Given the description of an element on the screen output the (x, y) to click on. 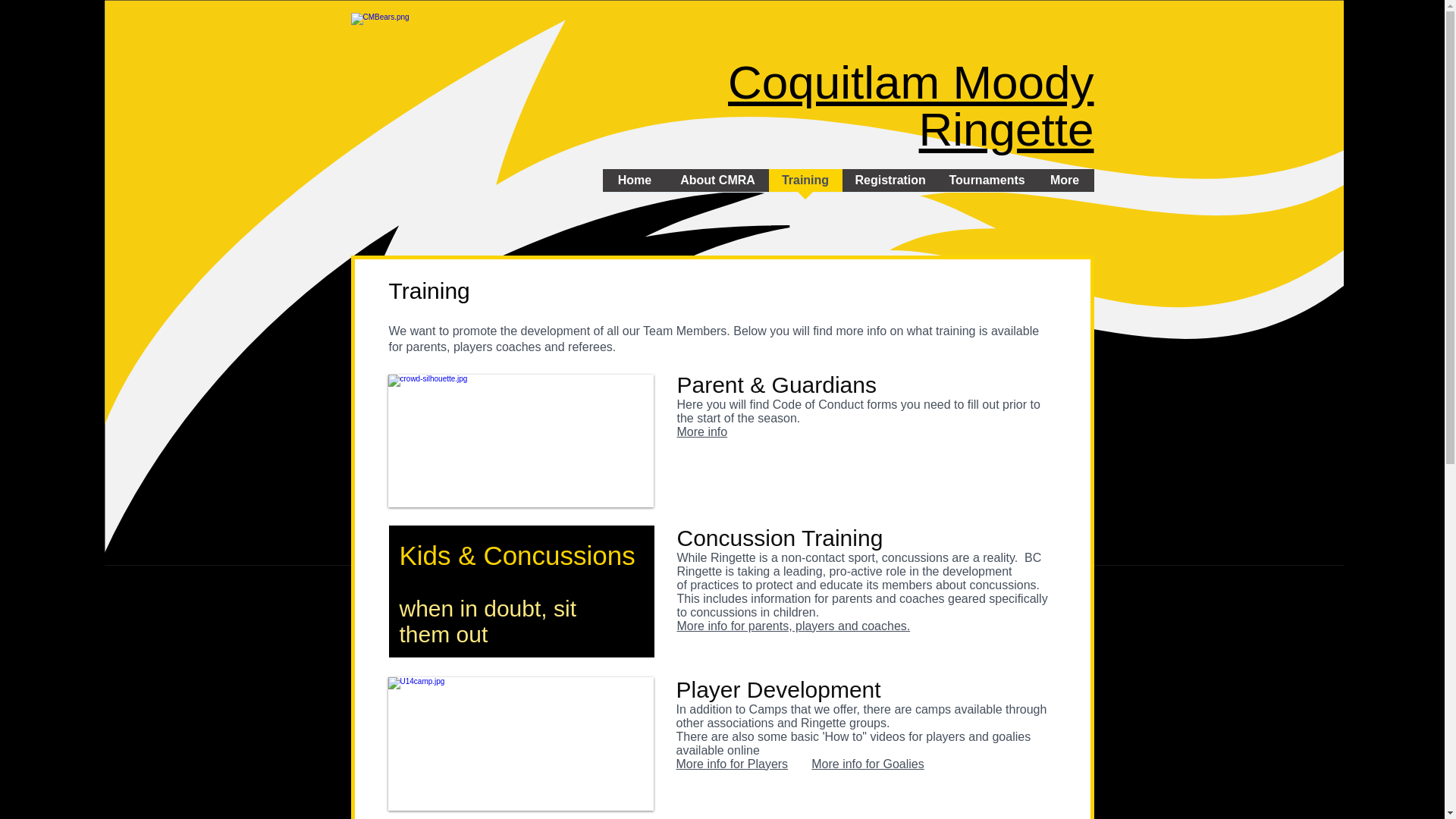
About CMRA (717, 184)
More info for Players (733, 763)
Coquitlam Moody Ringette (910, 105)
Registration (888, 184)
More info (701, 431)
More info for parents, players and coaches. (793, 625)
Training (805, 184)
Tournaments (985, 184)
Home (634, 184)
More info for Goalies (867, 763)
